Given the description of an element on the screen output the (x, y) to click on. 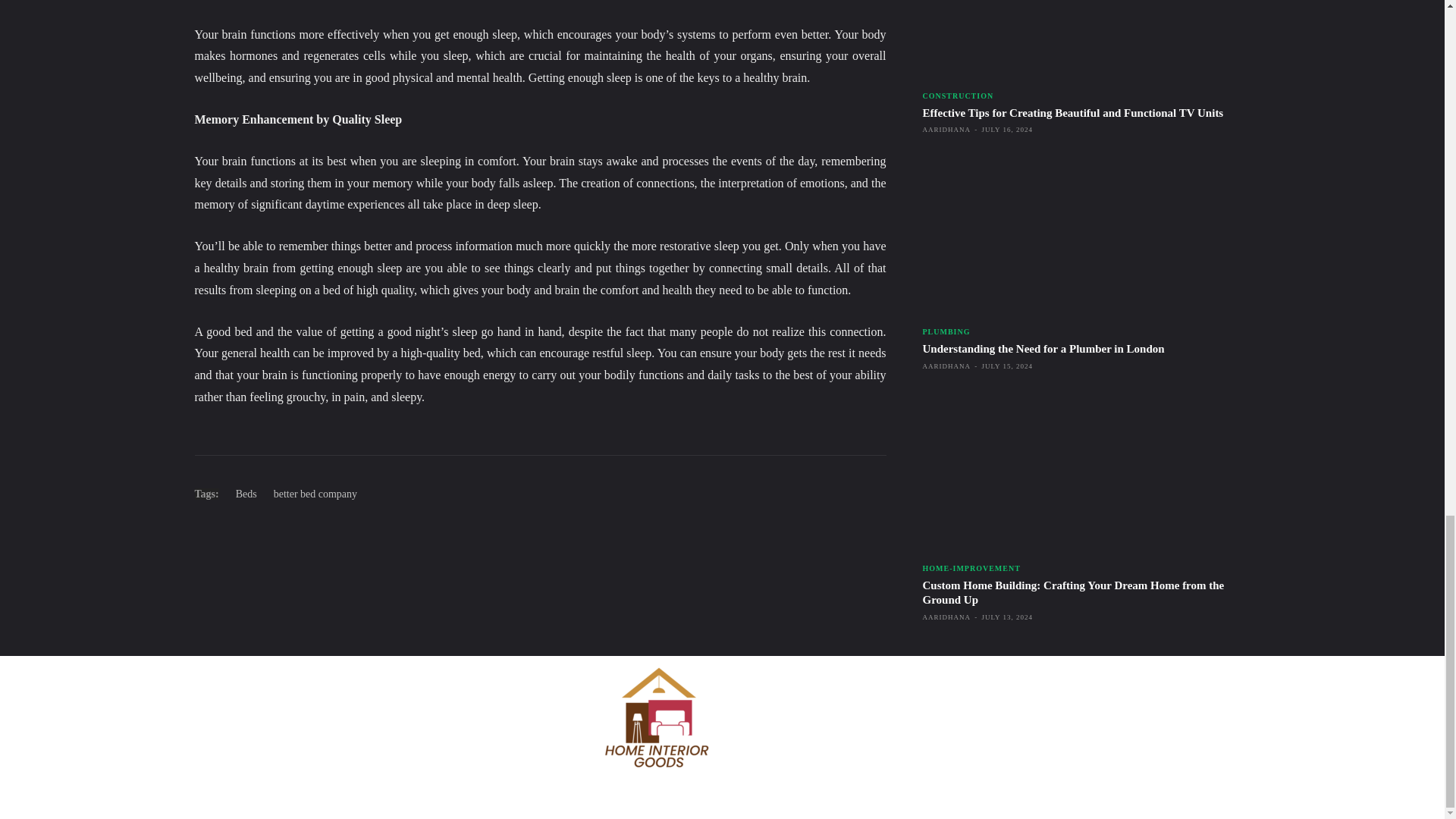
better bed company (314, 493)
Beds (246, 493)
